Given the description of an element on the screen output the (x, y) to click on. 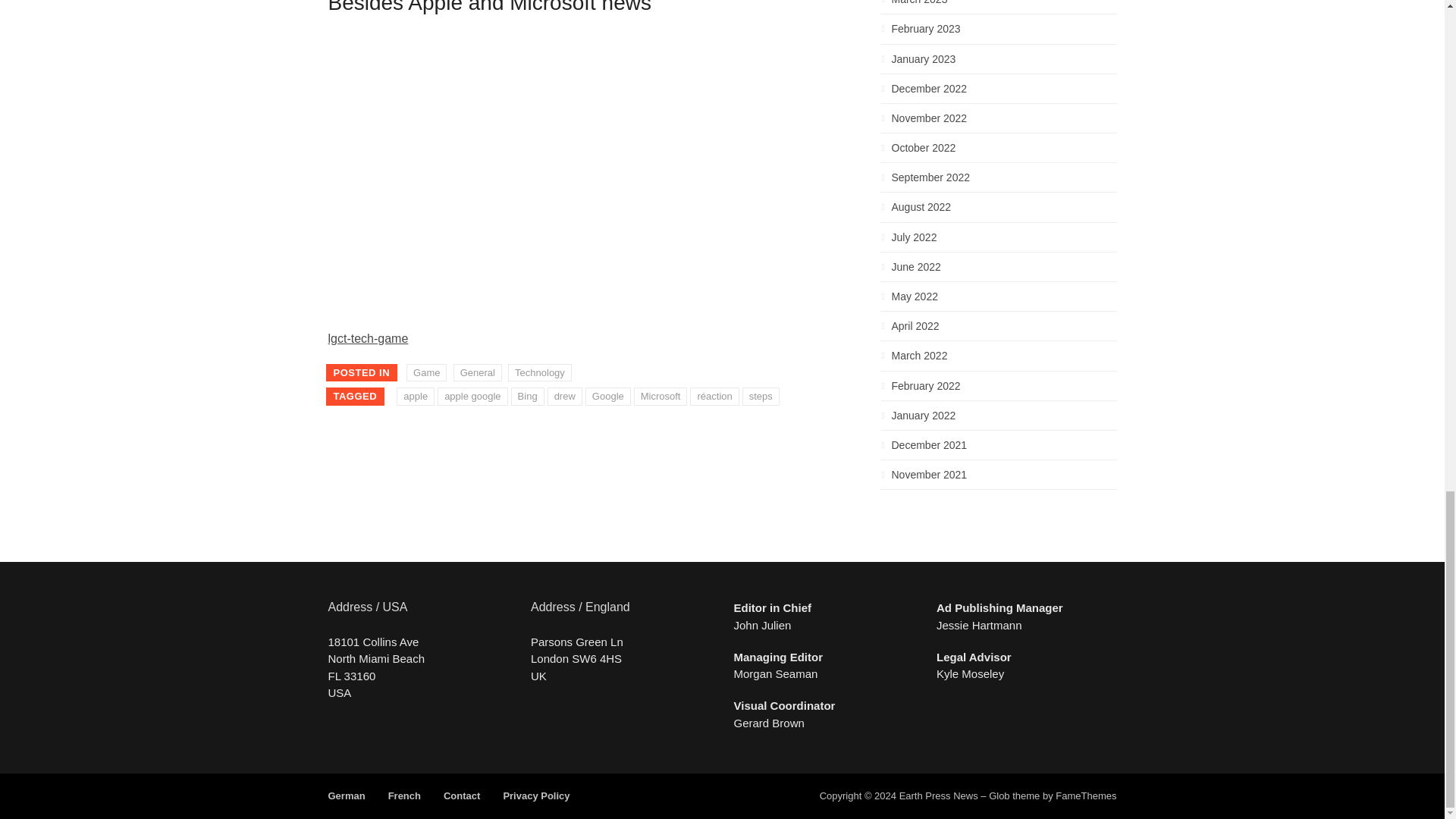
Bing (527, 396)
lgct-tech-game (367, 338)
Game (426, 372)
drew (564, 396)
apple google (472, 396)
General (477, 372)
apple (414, 396)
Microsoft (660, 396)
Technology (540, 372)
Google (607, 396)
